Given the description of an element on the screen output the (x, y) to click on. 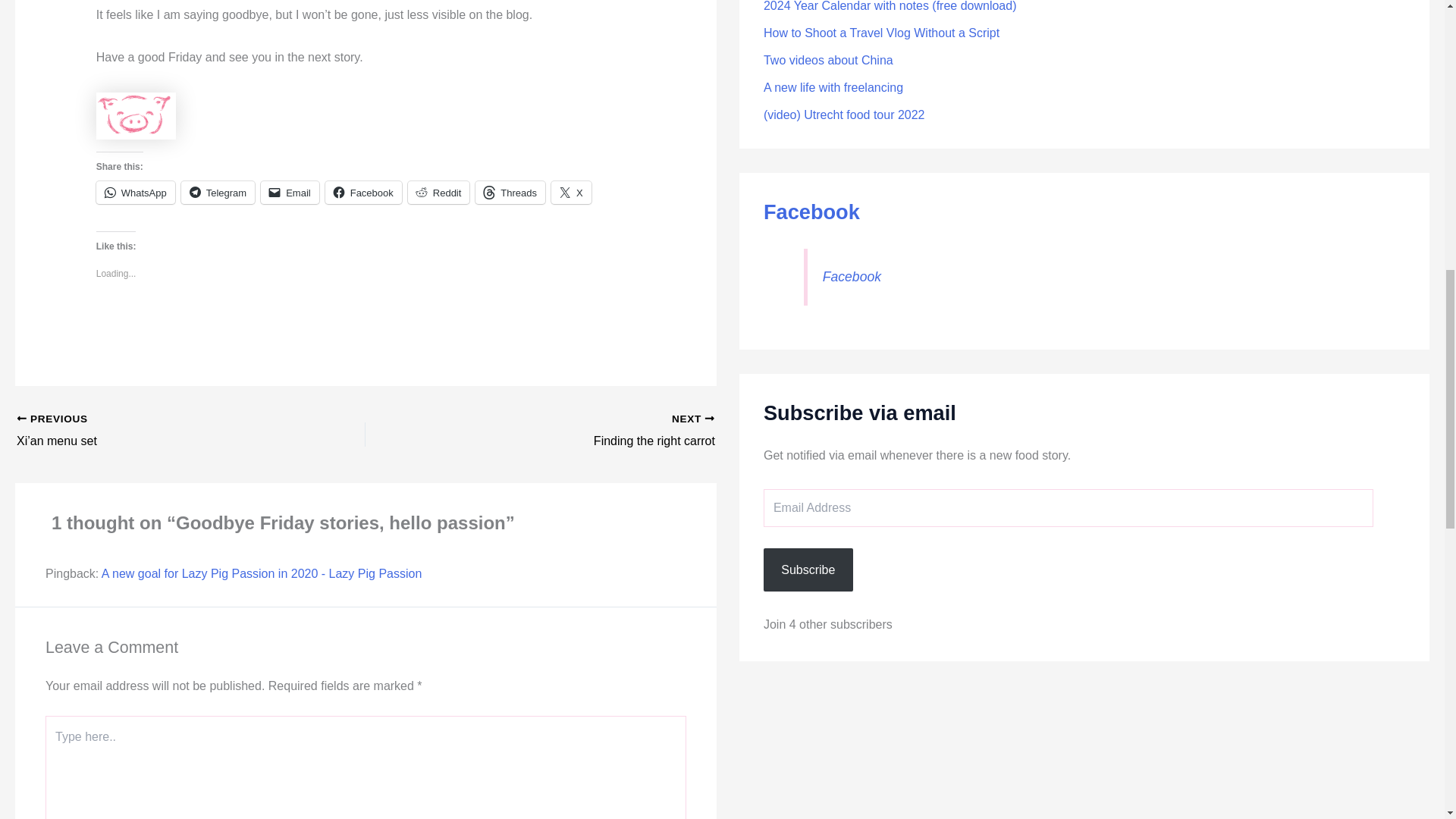
Click to share on Facebook (362, 191)
Click to share on WhatsApp (135, 191)
A new goal for Lazy Pig Passion in 2020 - Lazy Pig Passion (261, 573)
WhatsApp (135, 191)
Click to share on Threads (510, 191)
X (573, 431)
Email (571, 191)
Reddit (289, 191)
Click to share on Reddit (438, 191)
